Given the description of an element on the screen output the (x, y) to click on. 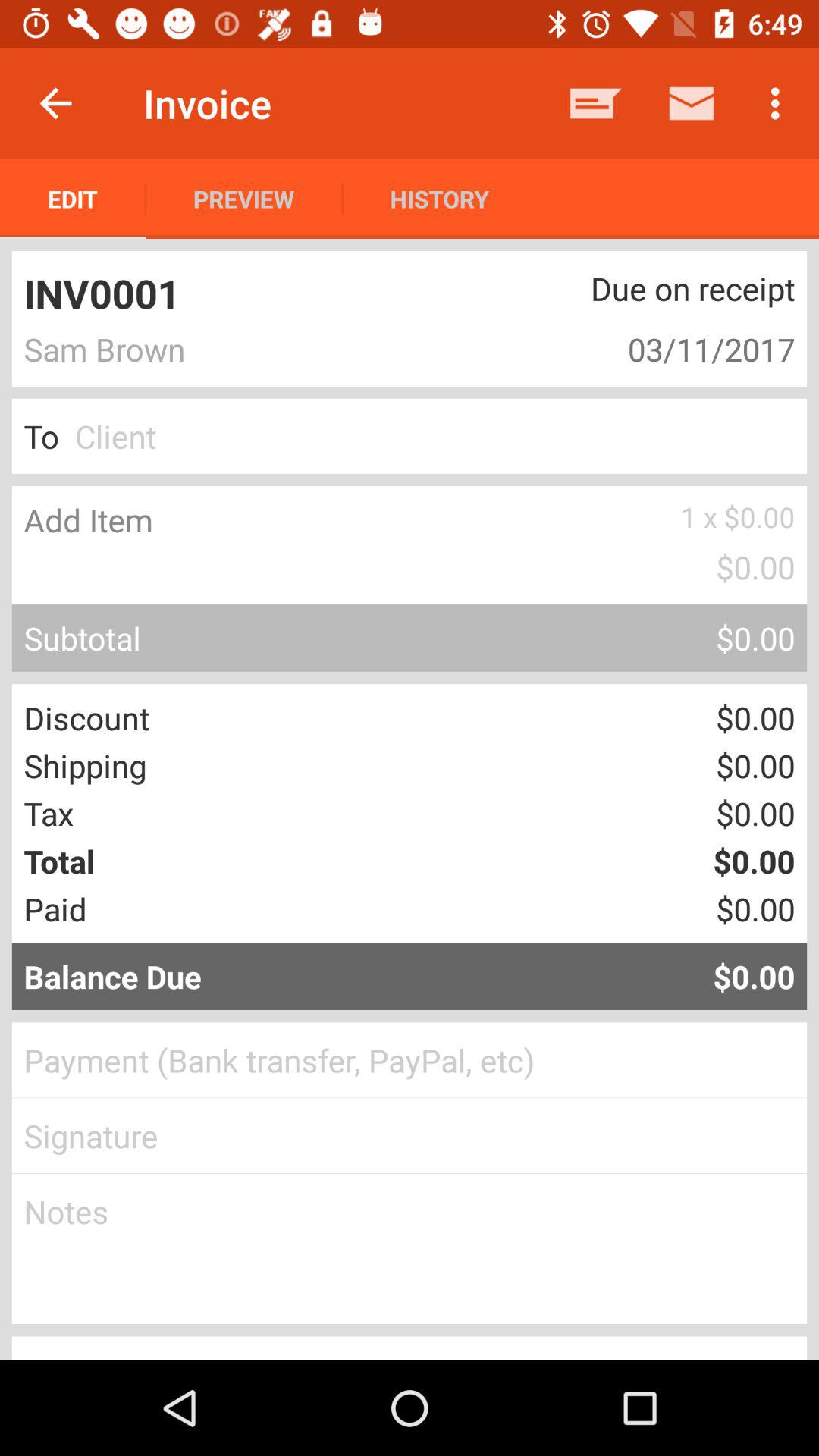
turn on the preview (243, 198)
